Given the description of an element on the screen output the (x, y) to click on. 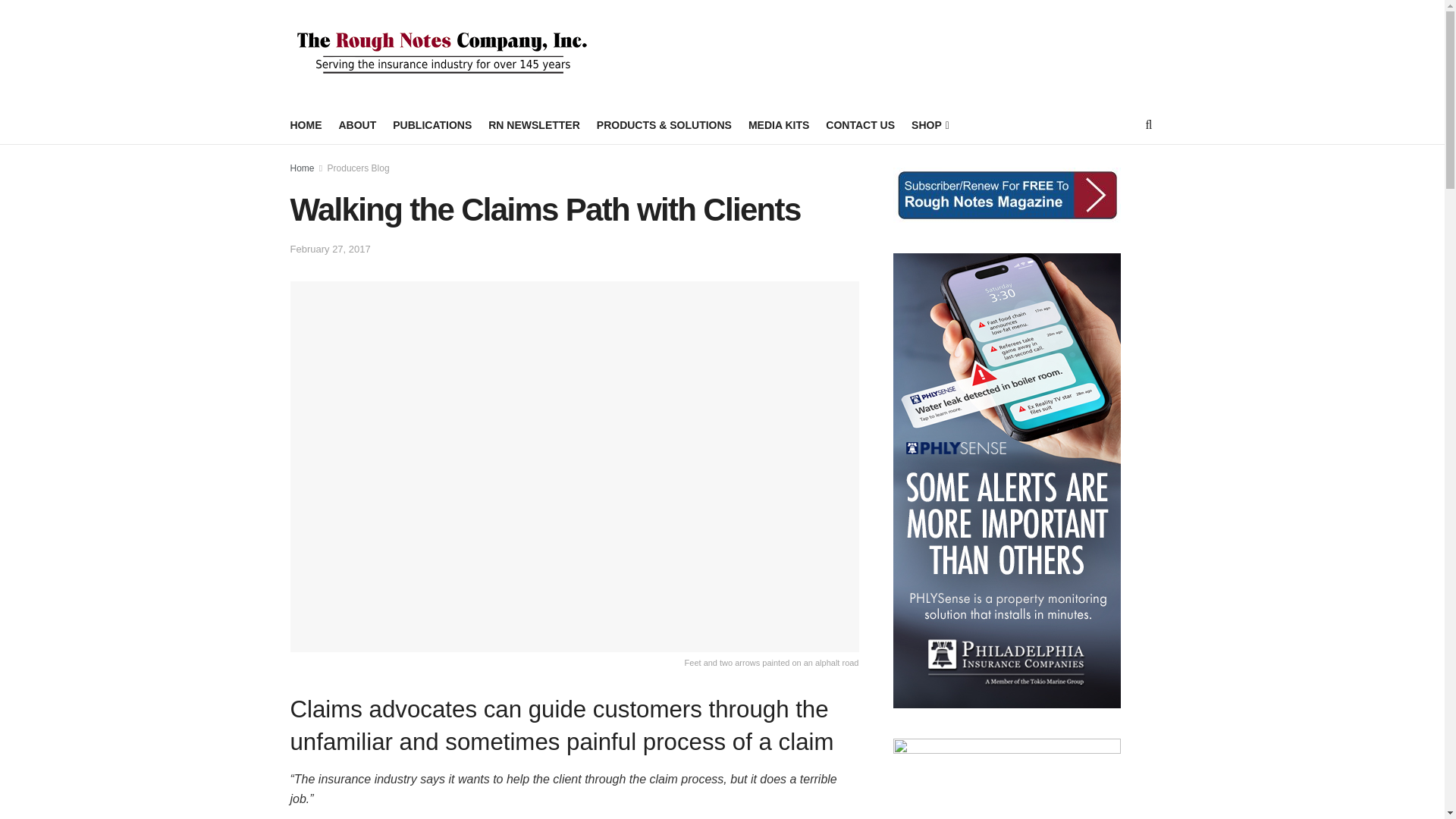
Home (301, 167)
PUBLICATIONS (432, 124)
ABOUT (356, 124)
Producers Blog (358, 167)
HOME (305, 124)
product and solutions (664, 124)
SHOP (929, 124)
CONTACT US (860, 124)
MEDIA KITS (778, 124)
RN NEWSLETTER (533, 124)
